Given the description of an element on the screen output the (x, y) to click on. 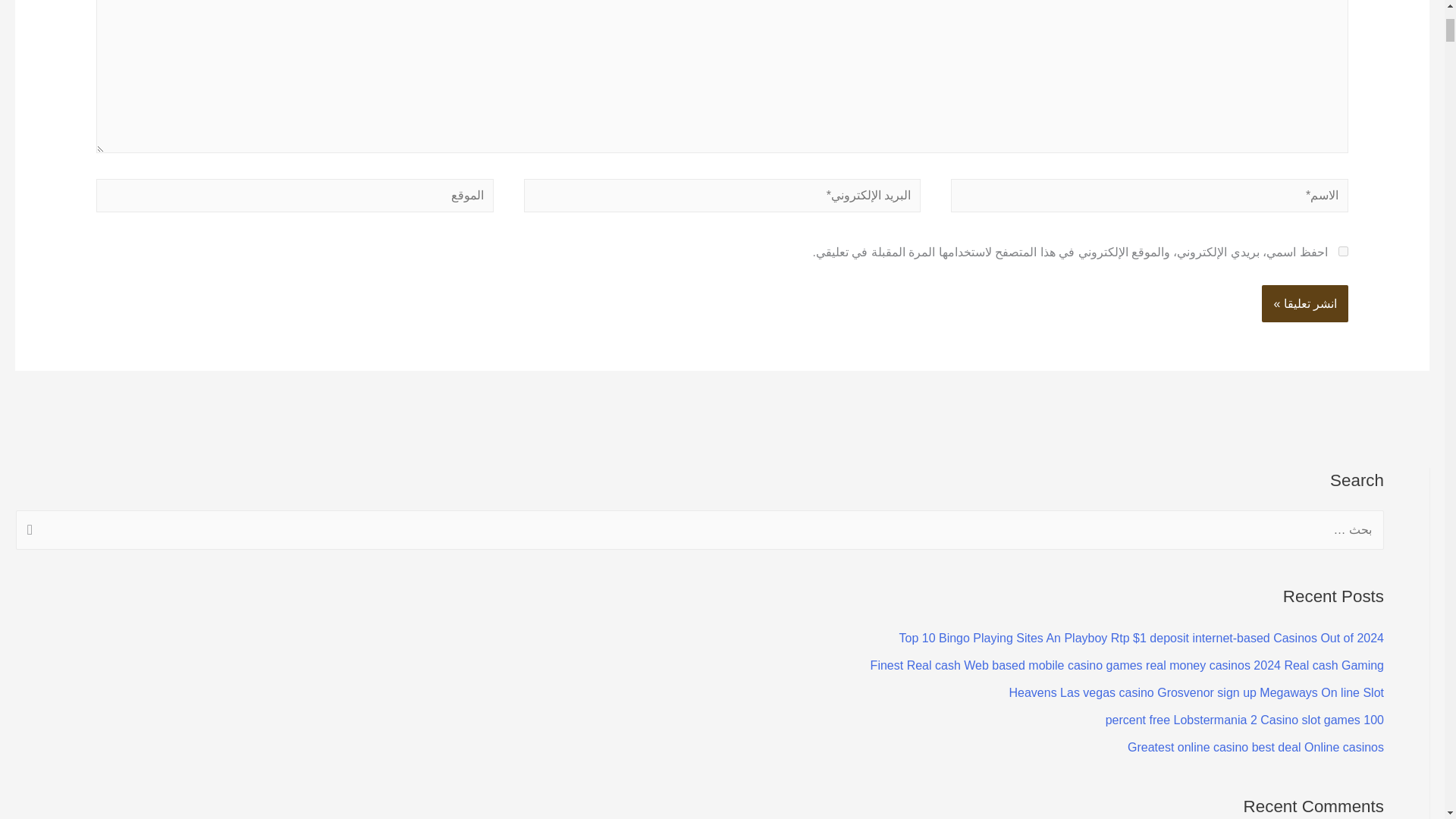
yes (1343, 251)
Greatest online casino best deal Online casinos (1255, 747)
100 percent free Lobstermania 2 Casino slot games (1244, 719)
